Given the description of an element on the screen output the (x, y) to click on. 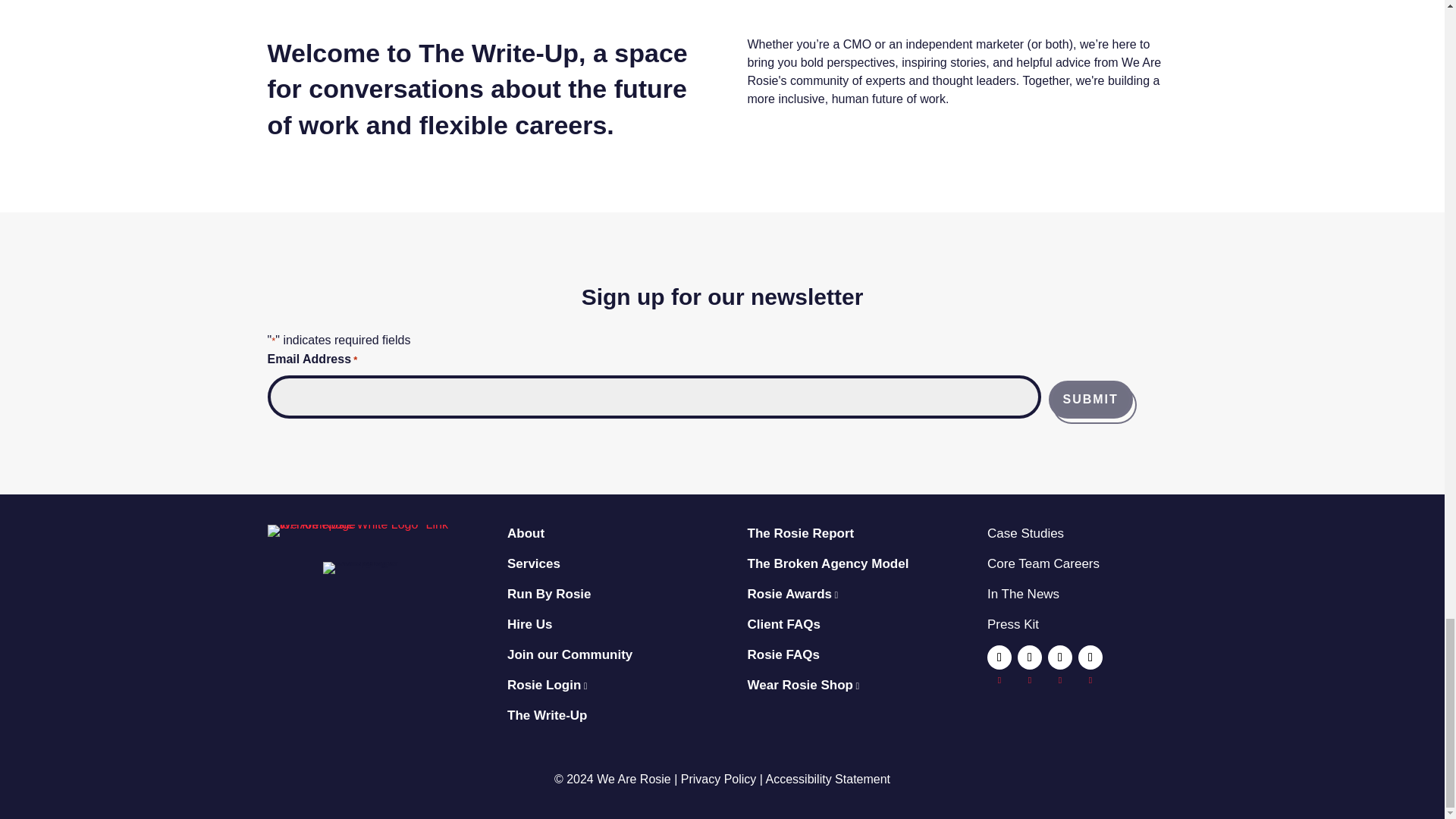
Follow on X (1029, 657)
WRR Logo Footer (361, 530)
Follow on LinkedIn (1059, 657)
Follow on Instagram (1090, 657)
Follow on Facebook (999, 657)
